Given the description of an element on the screen output the (x, y) to click on. 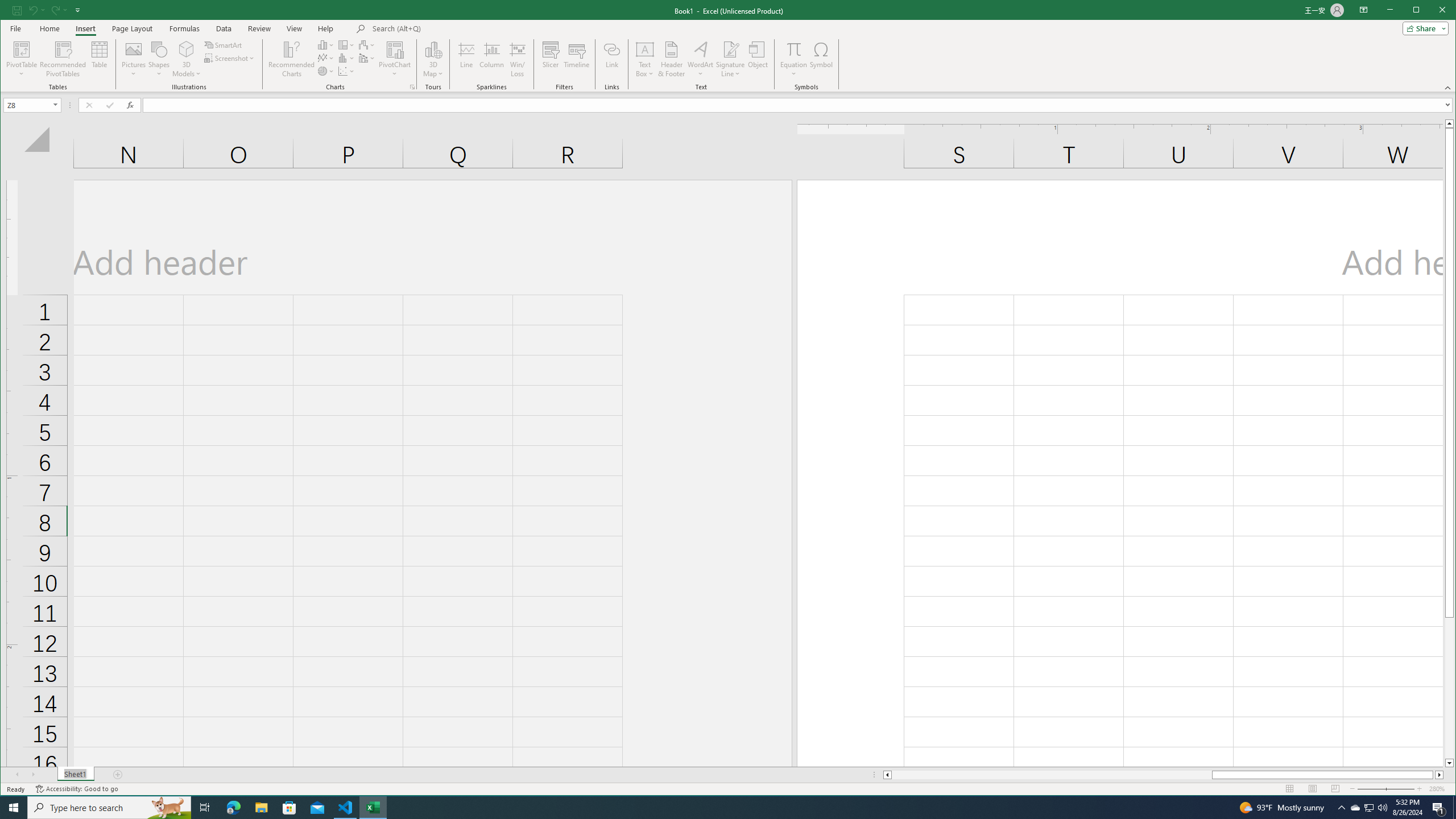
Accessibility Checker Accessibility: Good to go (76, 788)
Slicer... (550, 59)
Column (492, 59)
Formulas (184, 28)
Action Center, 1 new notification (1439, 807)
Line (466, 59)
Share (1368, 807)
WordArt (1422, 27)
Insert Waterfall, Funnel, Stock, Surface, or Radar Chart (699, 59)
Win/Loss (366, 44)
Notification Chevron (517, 59)
Shapes (1341, 807)
Page Break Preview (159, 59)
